Given the description of an element on the screen output the (x, y) to click on. 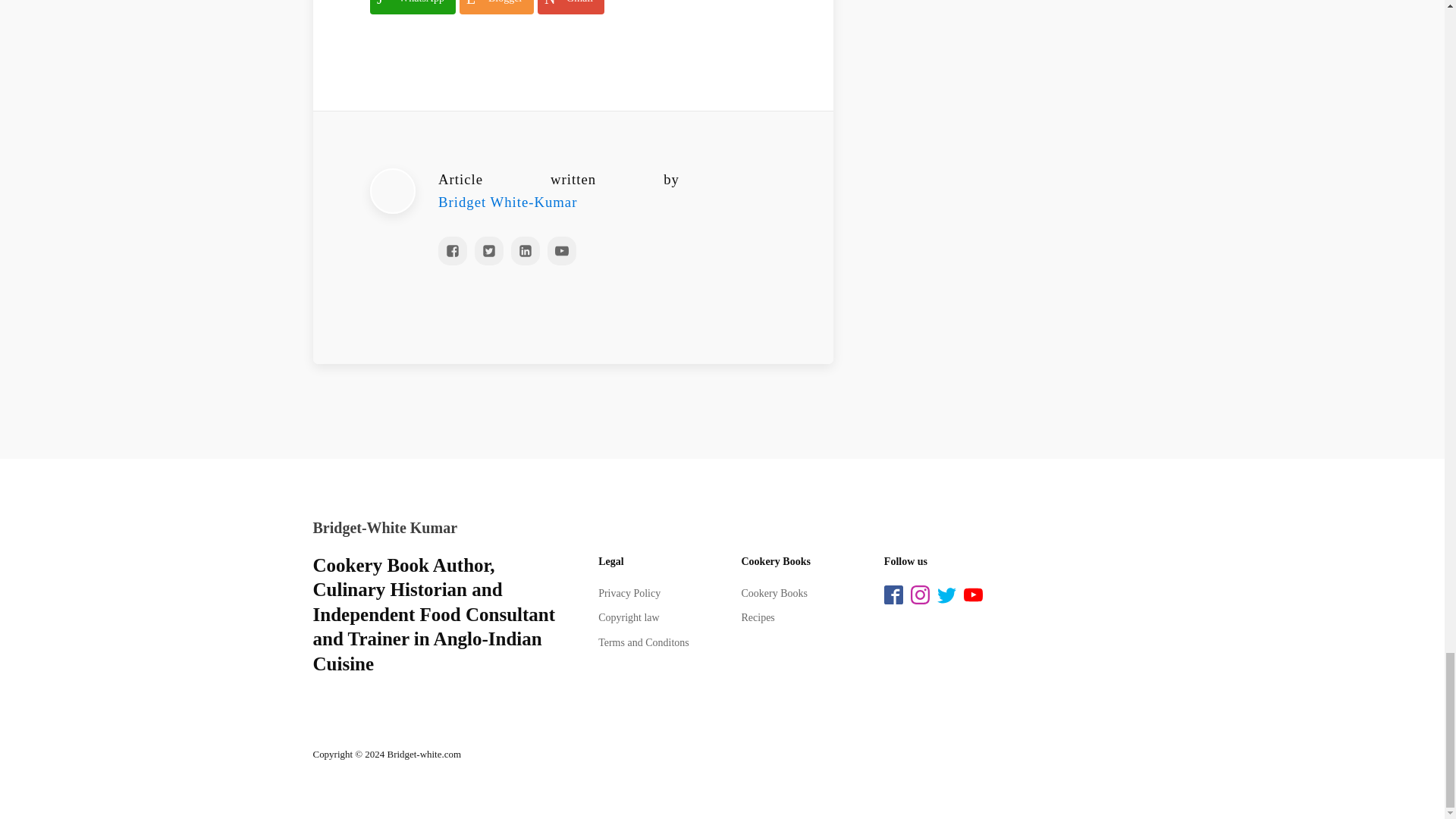
Share on WhatsApp (412, 7)
Share on Gmail (570, 7)
Share on Blogger (497, 7)
